Given the description of an element on the screen output the (x, y) to click on. 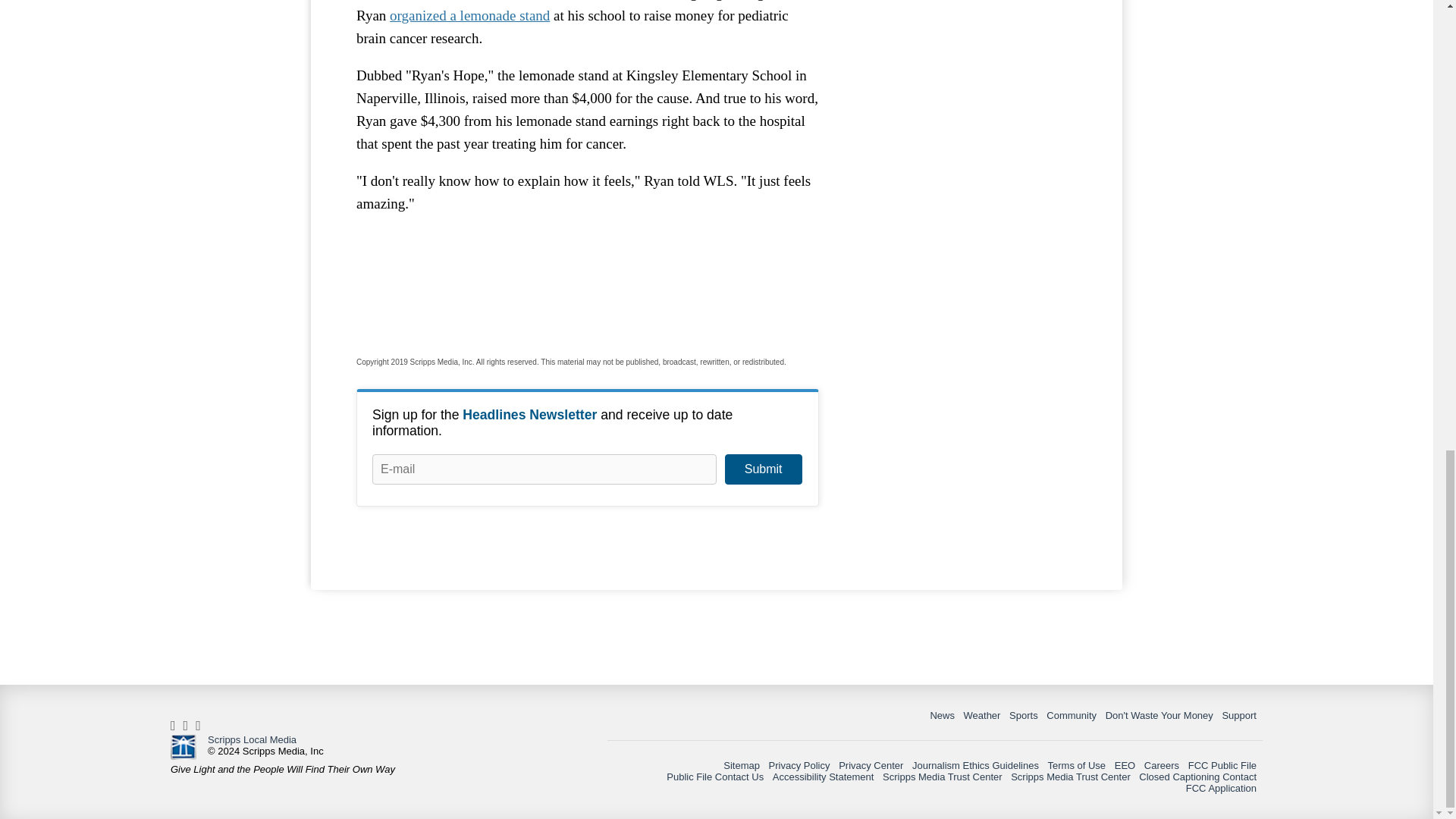
Submit (763, 469)
